Given the description of an element on the screen output the (x, y) to click on. 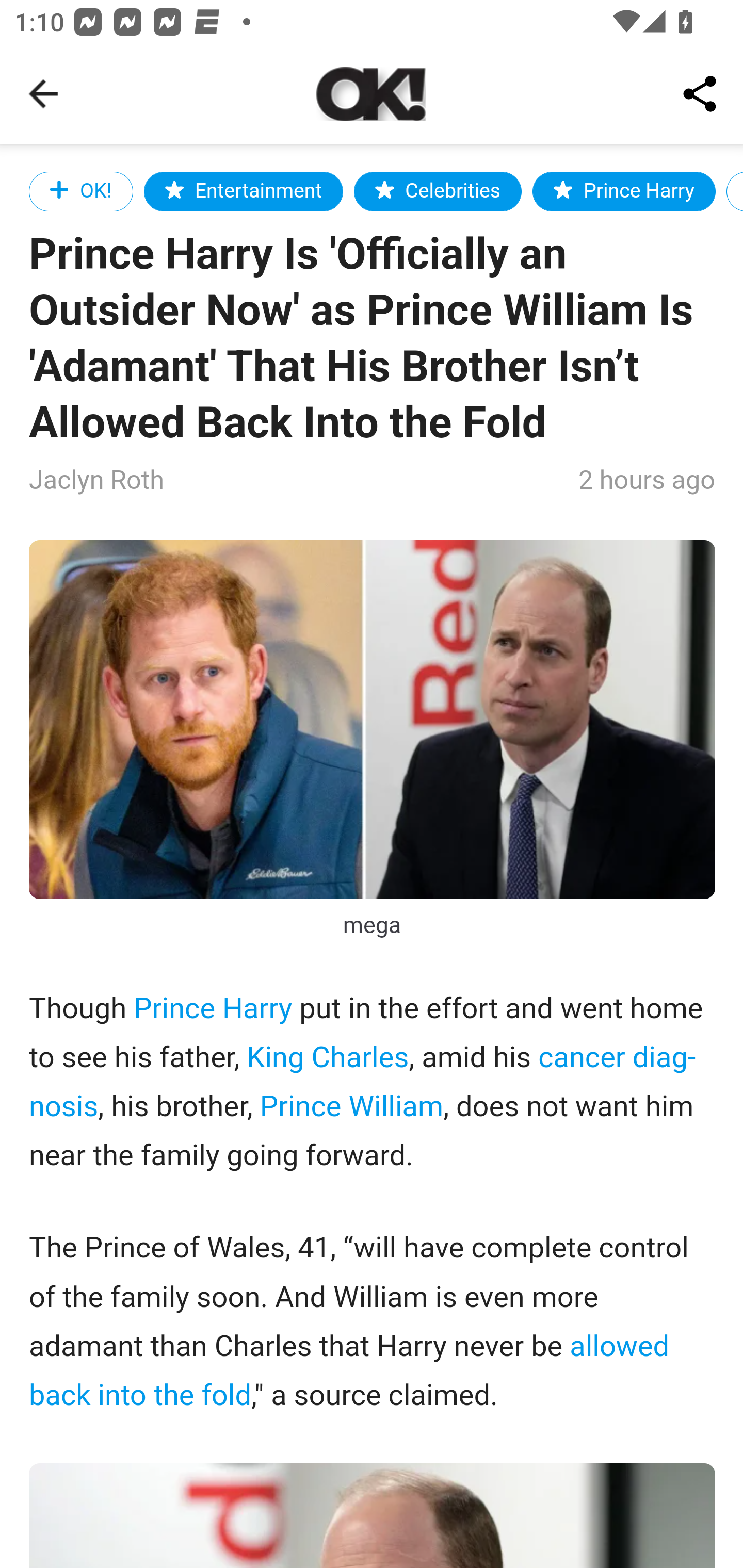
OK! (80, 191)
Entertainment (243, 191)
Celebrities (437, 191)
Prince Harry (623, 191)
Prince Harry (212, 1009)
cancer diagnosis (362, 1082)
King Charles (327, 1057)
Prince William (350, 1106)
allowed back into the fold (348, 1371)
